Given the description of an element on the screen output the (x, y) to click on. 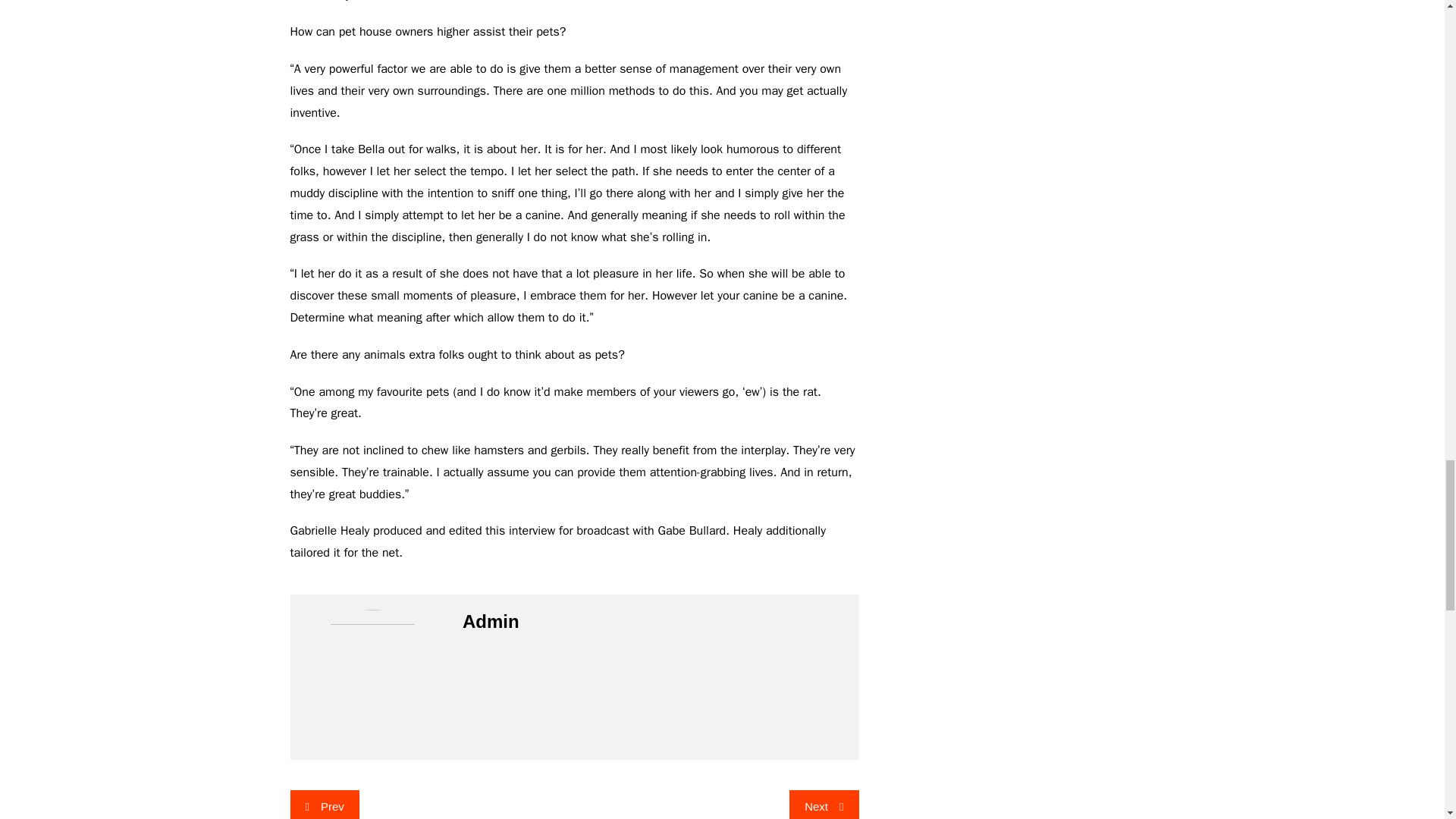
Prev (323, 804)
Next (824, 804)
